Given the description of an element on the screen output the (x, y) to click on. 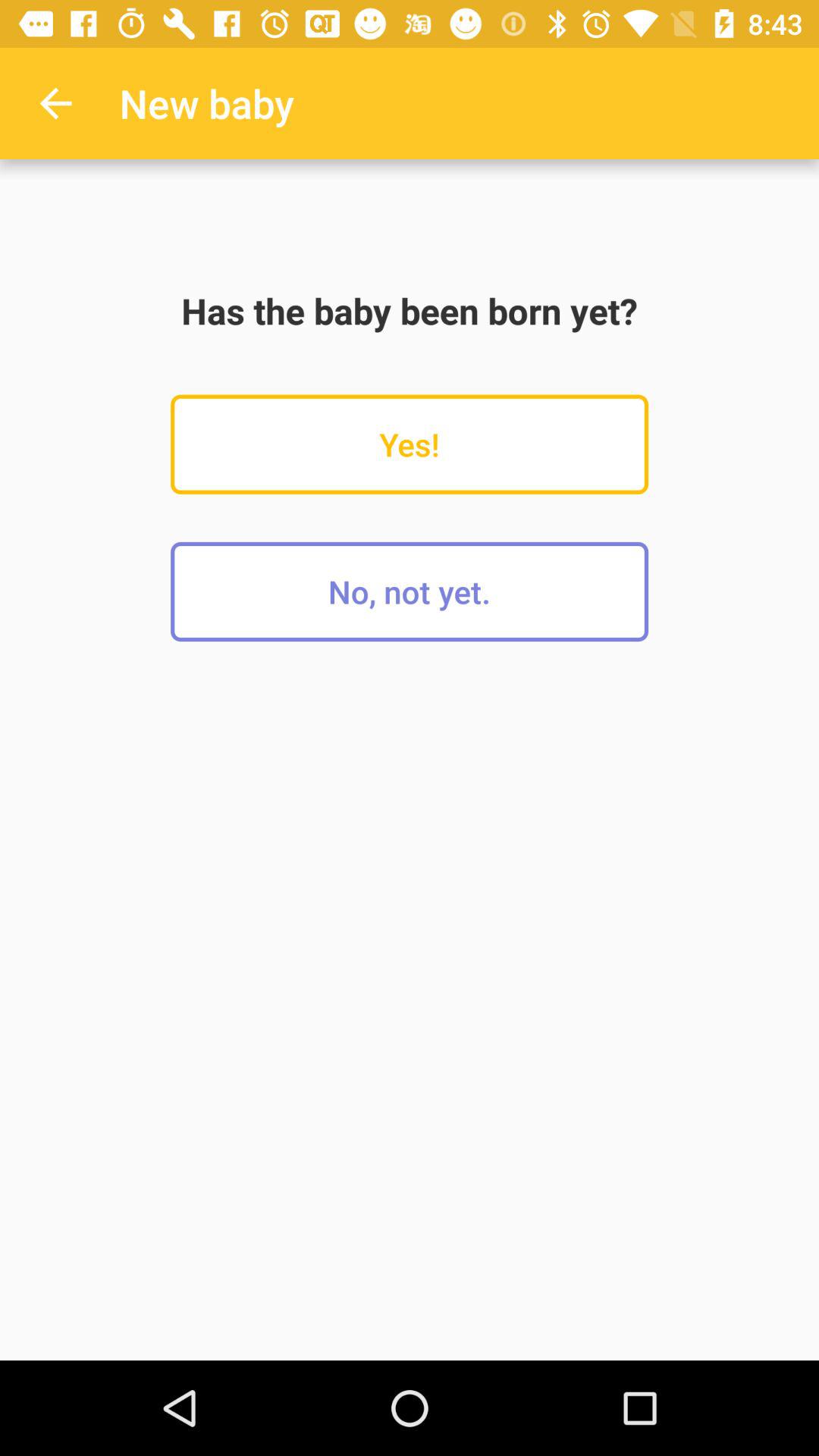
choose icon to the left of new baby app (55, 103)
